Given the description of an element on the screen output the (x, y) to click on. 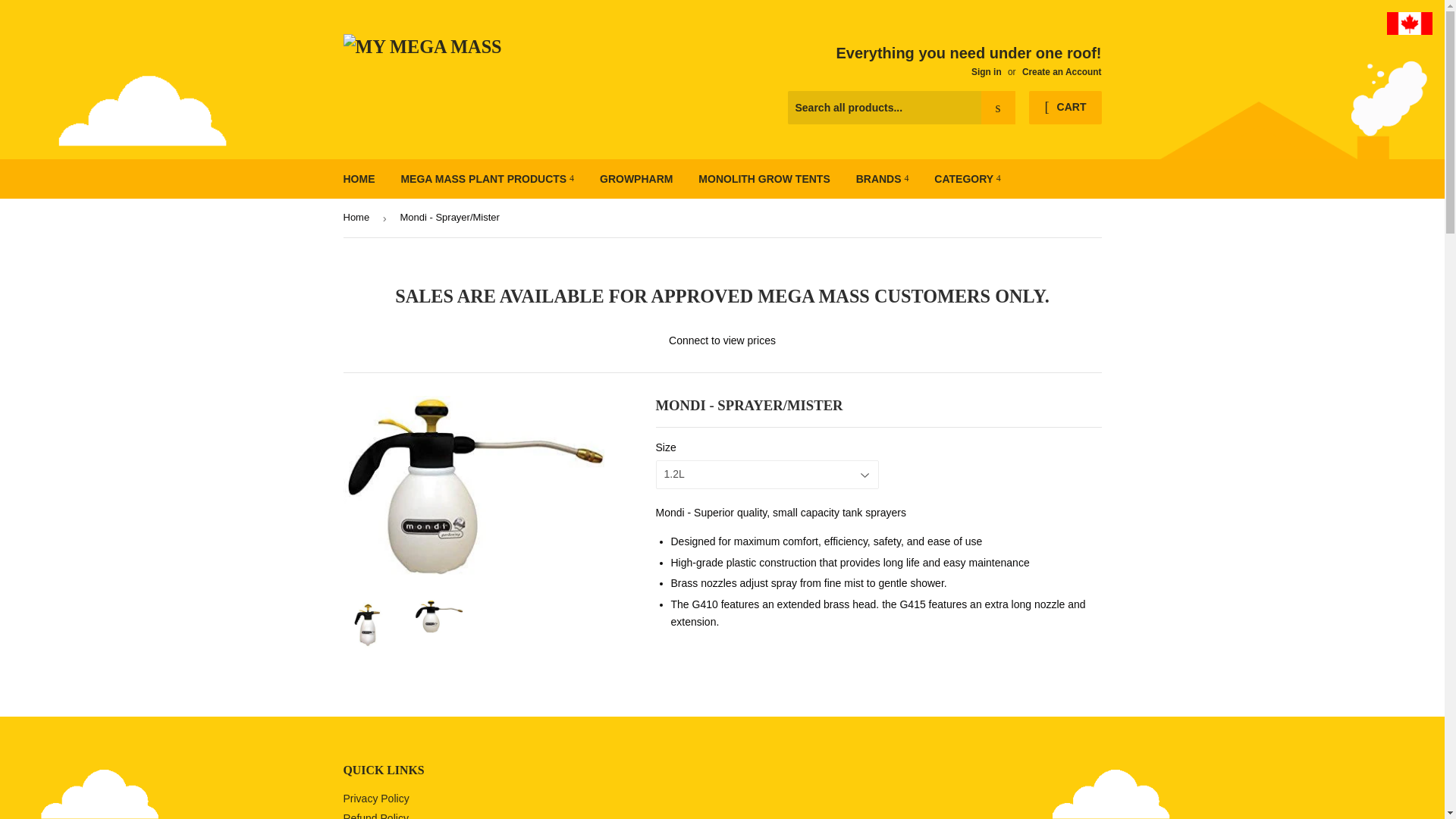
Back to the frontpage (358, 218)
Sign in (986, 71)
Search (997, 107)
Create an Account (1062, 71)
CART (1064, 107)
